Given the description of an element on the screen output the (x, y) to click on. 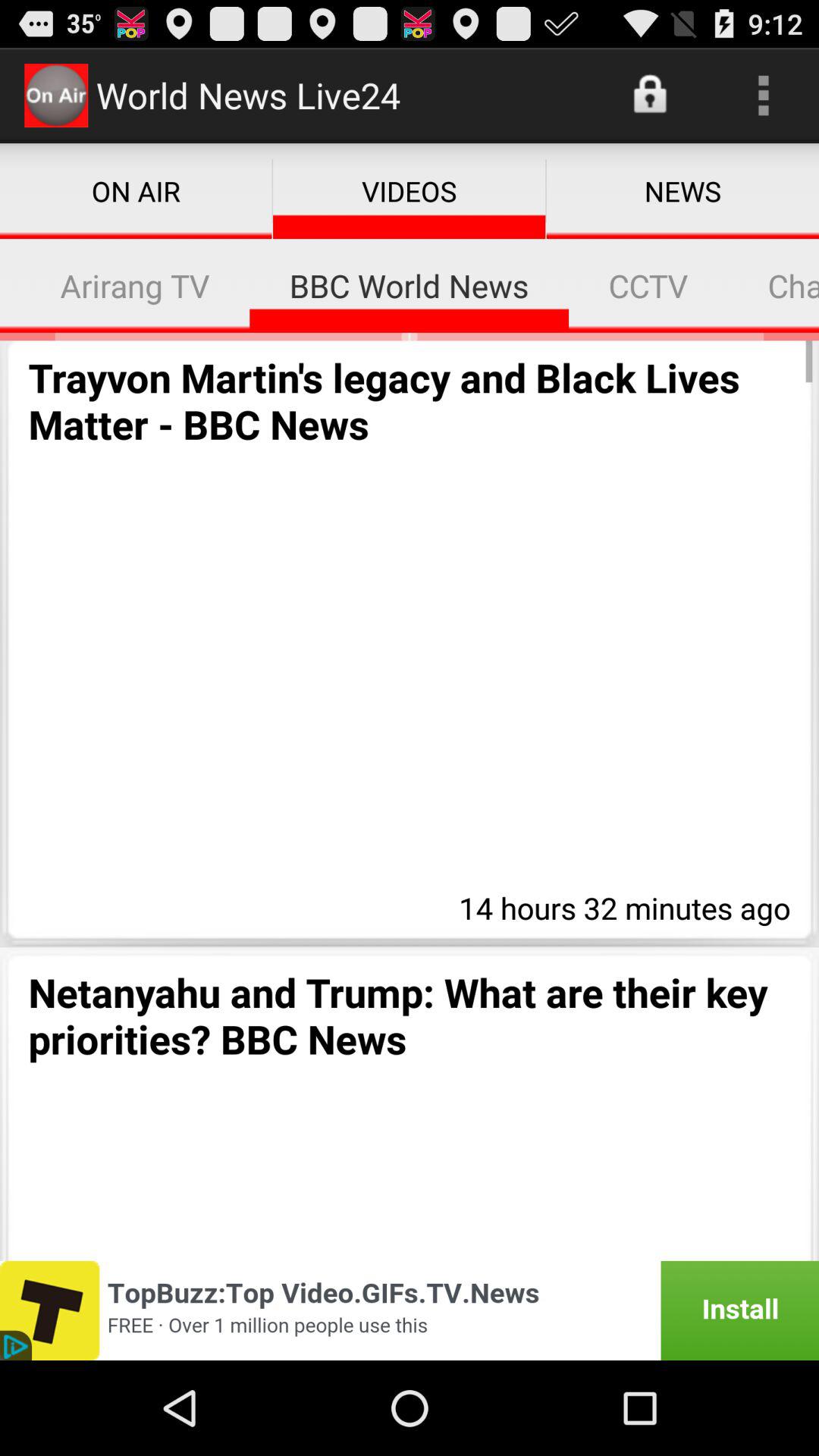
select icon next to      arirang tv      item (10, 285)
